Given the description of an element on the screen output the (x, y) to click on. 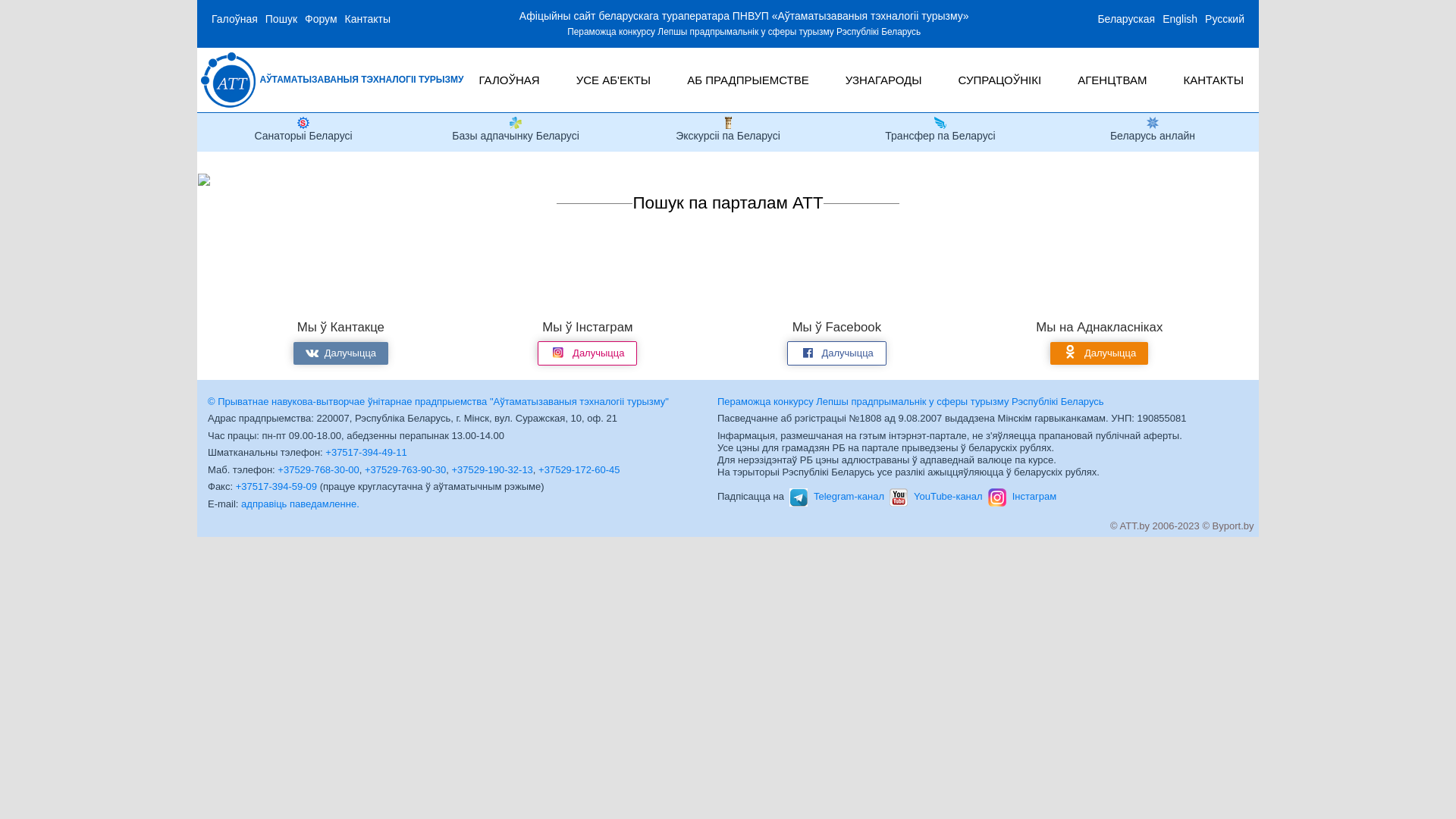
+37529-172-60-45 Element type: text (578, 469)
+37529-768-30-00 Element type: text (317, 469)
+37529-190-32-13 Element type: text (492, 469)
+37517-394-59-09 Element type: text (275, 486)
English Element type: text (1179, 18)
+37517-394-49-11 Element type: text (365, 452)
+37529-763-90-30 Element type: text (404, 469)
